Given the description of an element on the screen output the (x, y) to click on. 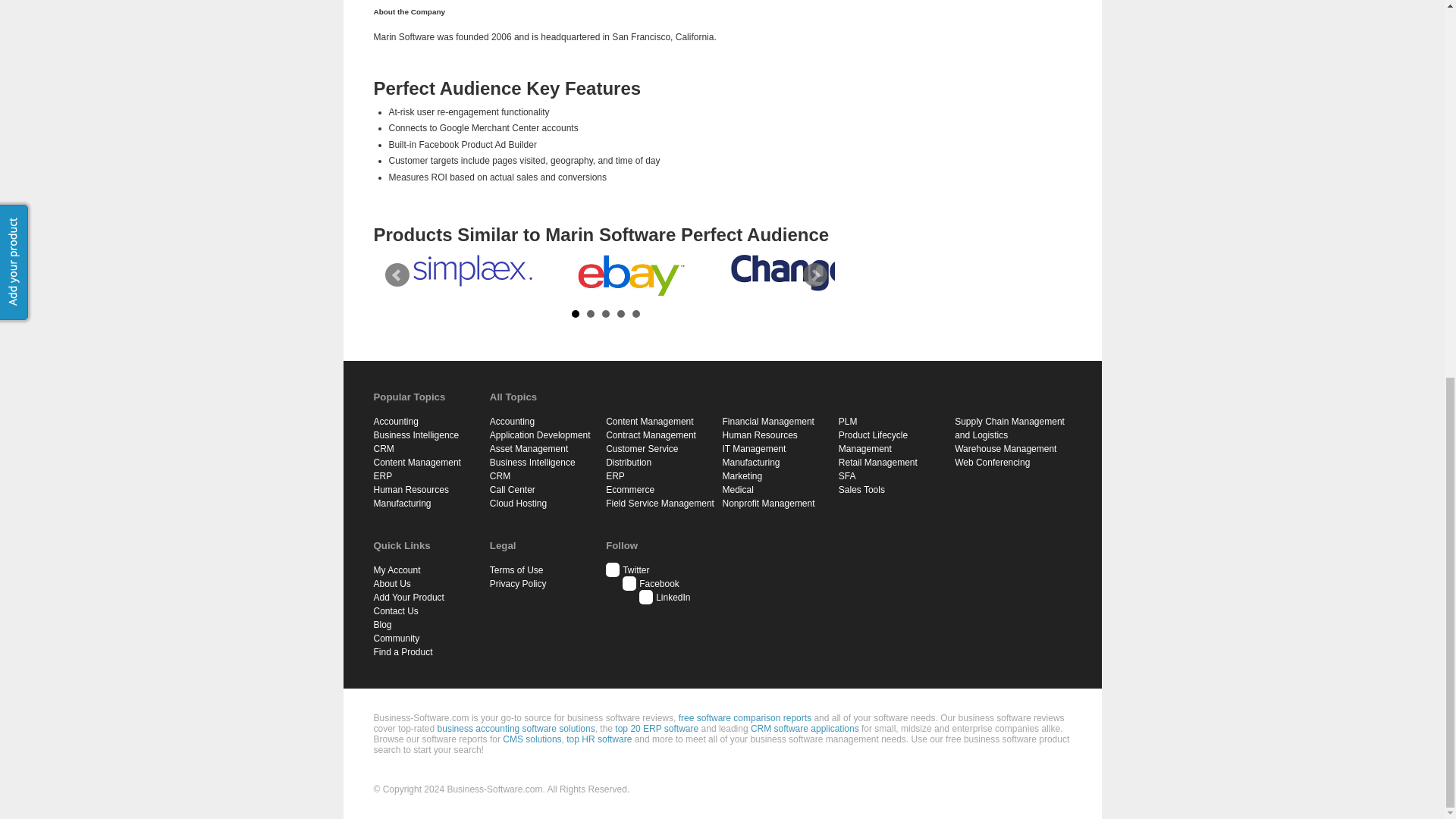
ReTargeter Search Retargeting (312, 266)
- Chango Twitter Tailored Audiences (789, 272)
- Chango Twitter Tailored Audiences (790, 272)
Simplaex (471, 270)
Simplaex (472, 270)
